Given the description of an element on the screen output the (x, y) to click on. 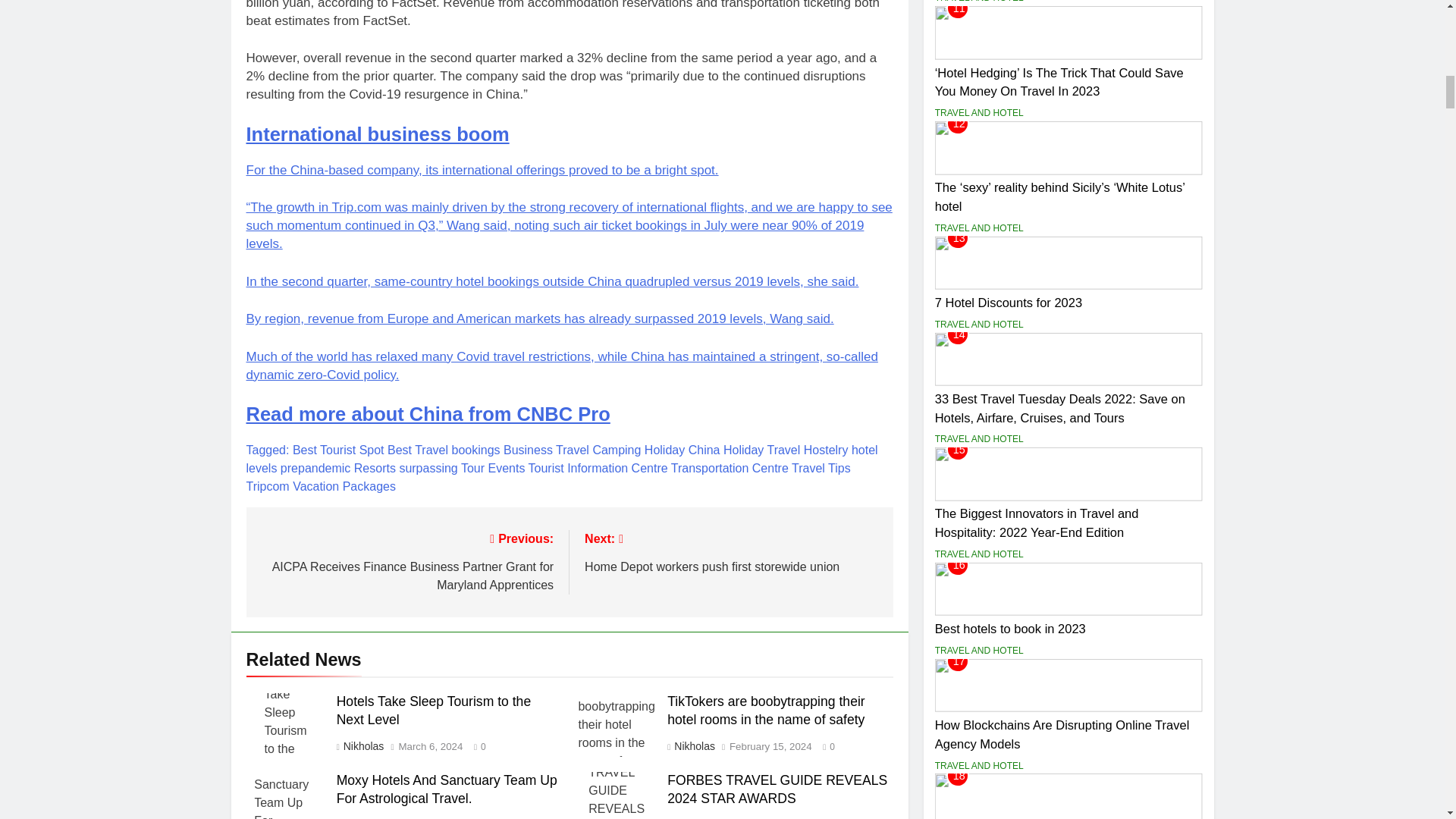
Tagged: (269, 449)
International business boom (377, 133)
